Given the description of an element on the screen output the (x, y) to click on. 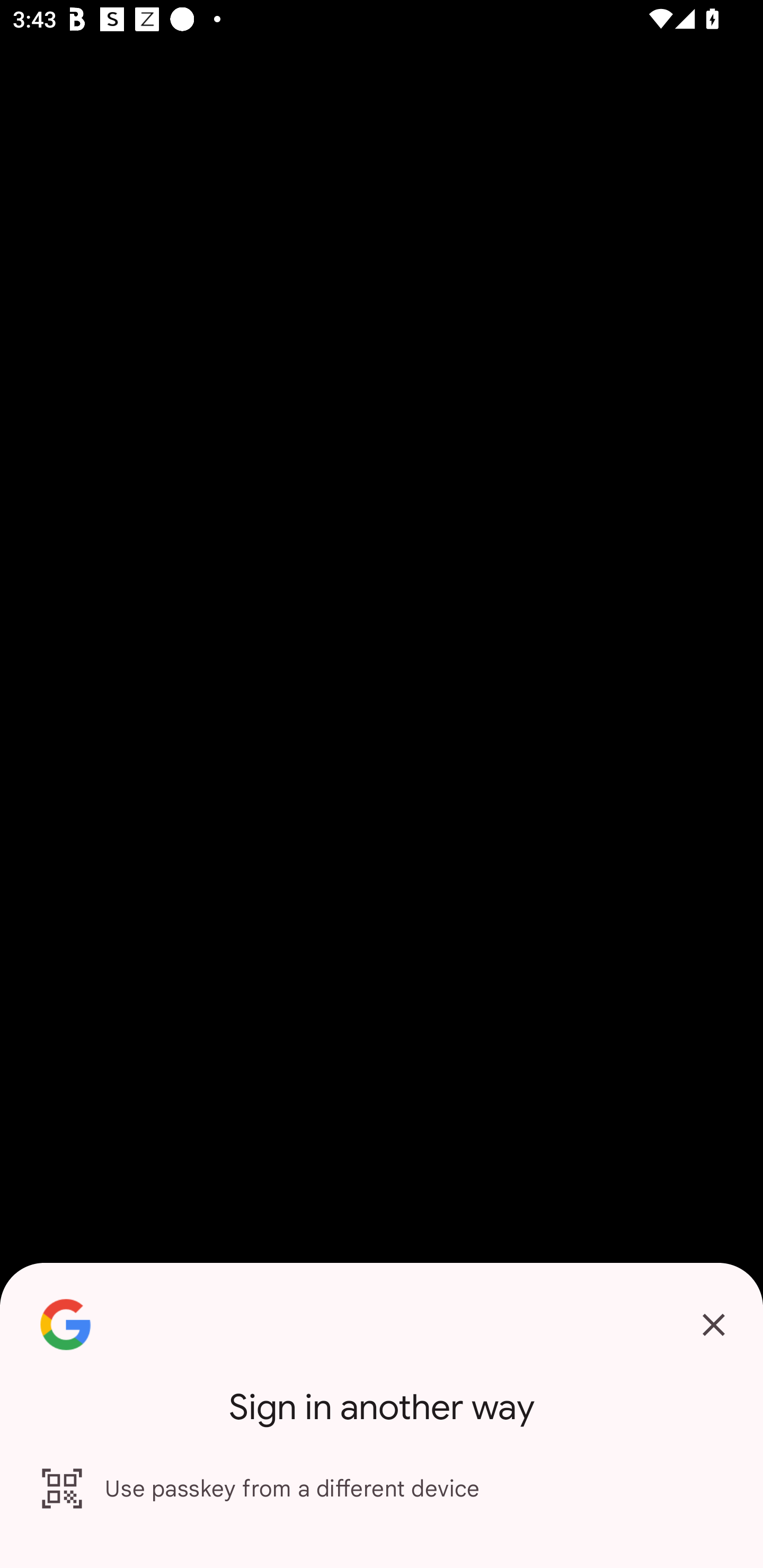
Cancel (713, 1324)
Use passkey from a different device (381, 1488)
